Given the description of an element on the screen output the (x, y) to click on. 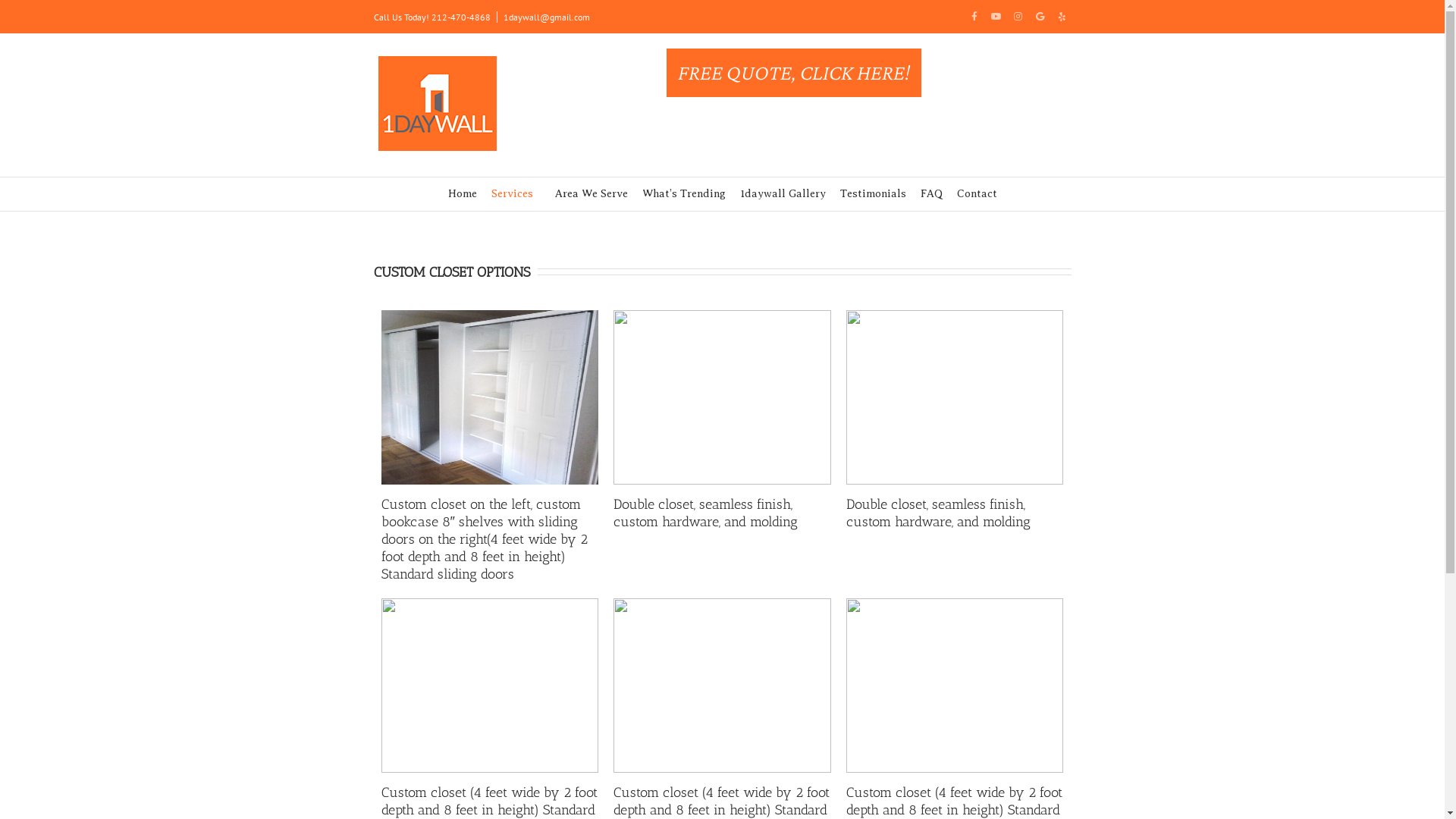
Contact Element type: text (976, 193)
Area We Serve Element type: text (591, 193)
1daywall Gallery Element type: text (782, 193)
Services Element type: text (515, 193)
FREE QUOTE, CLICK HERE! Element type: text (792, 72)
Testimonials Element type: text (872, 193)
Home Element type: text (461, 193)
FAQ Element type: text (931, 193)
1daywall@gmail.com Element type: text (546, 15)
Call Us Today! 212-470-4868 Element type: text (431, 15)
